Given the description of an element on the screen output the (x, y) to click on. 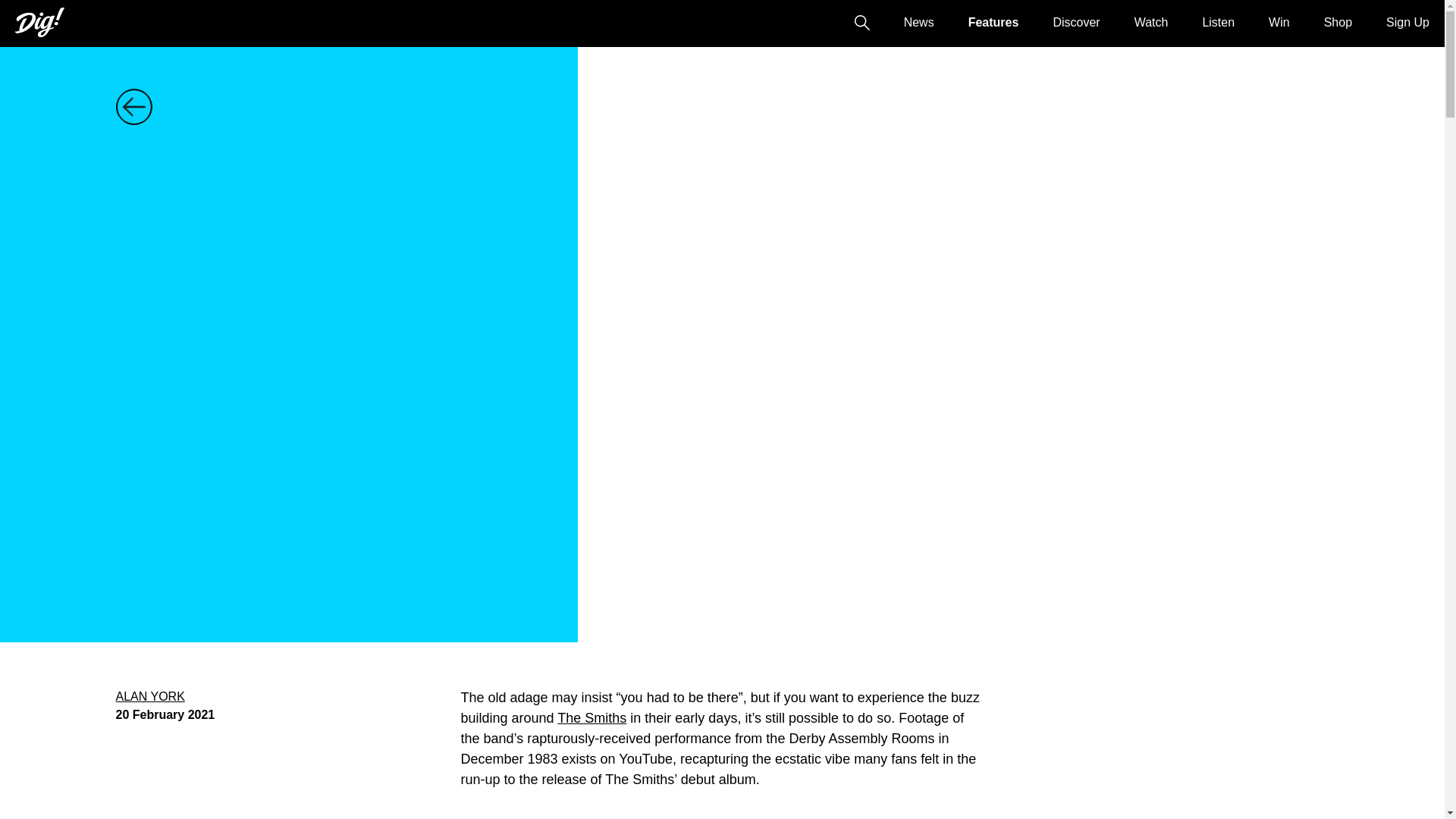
Features (993, 21)
Watch (1151, 21)
Win (1279, 21)
News (919, 21)
ALAN YORK (149, 696)
Listen (1218, 21)
Discover (1075, 21)
Shop (1337, 21)
The Smiths (591, 717)
Sign Up (1407, 21)
Back (145, 106)
